Given the description of an element on the screen output the (x, y) to click on. 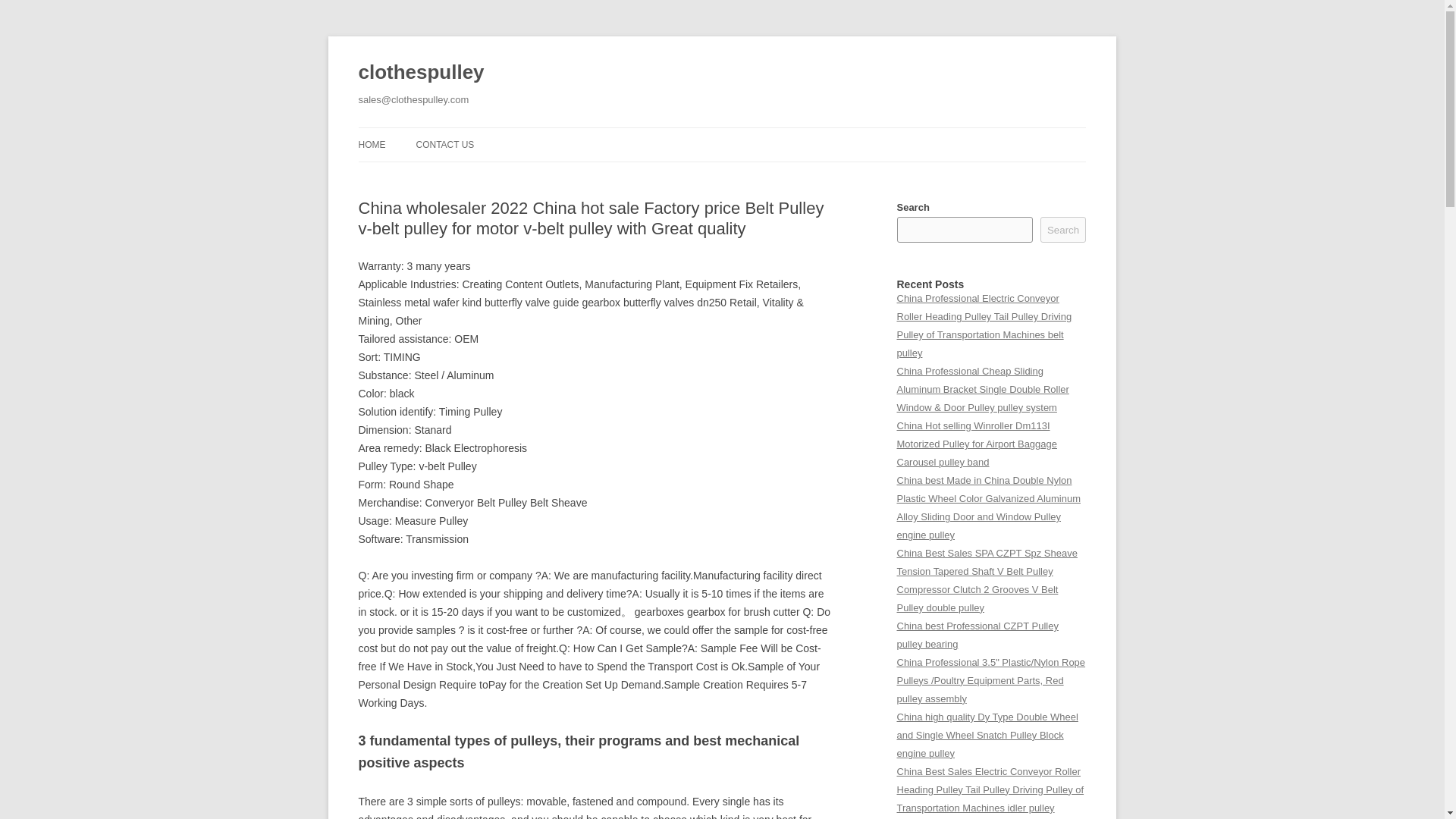
clothespulley (420, 72)
clothespulley (420, 72)
Search (1063, 229)
China best Professional CZPT Pulley pulley bearing (977, 634)
